Given the description of an element on the screen output the (x, y) to click on. 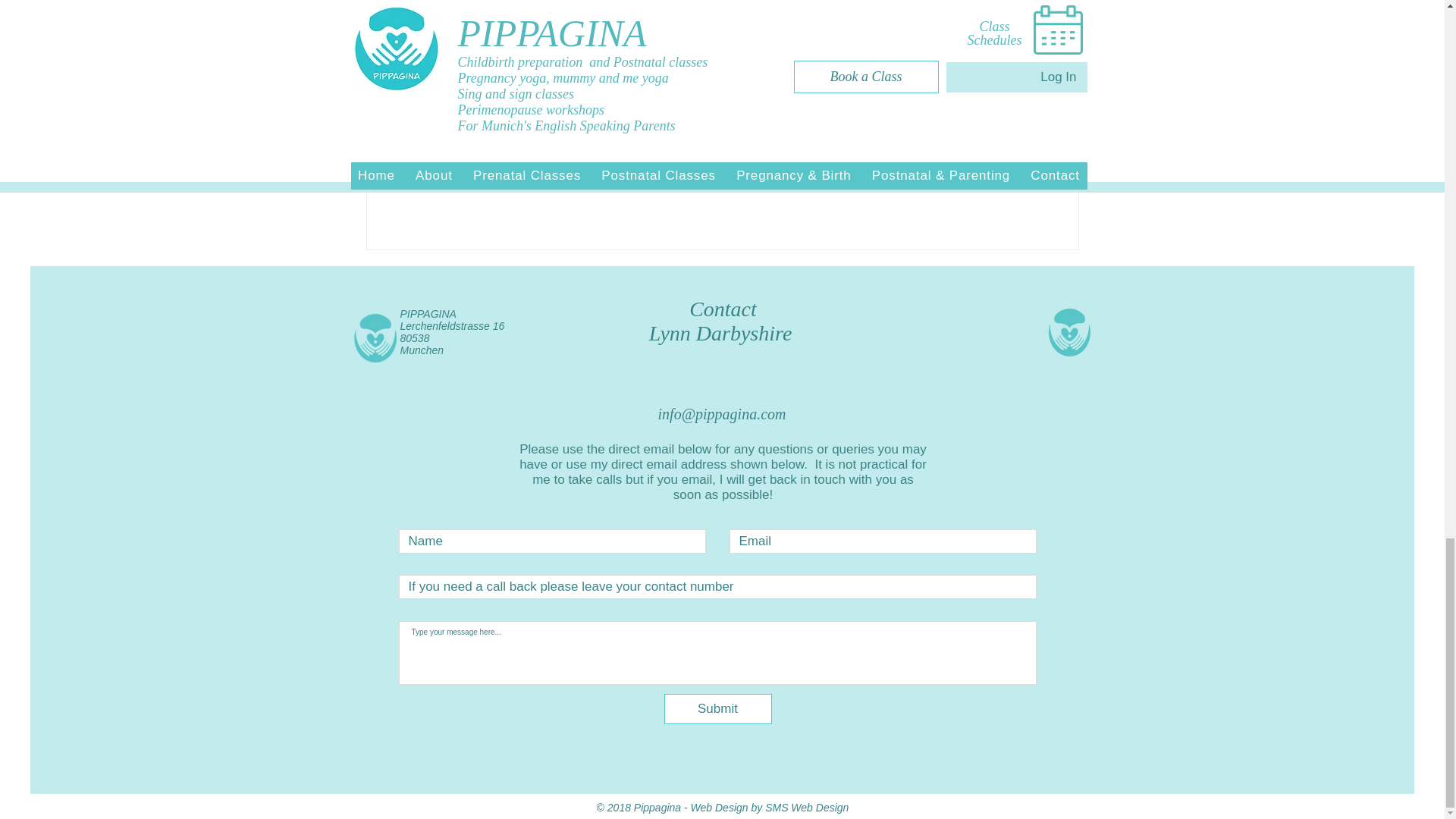
Web Design by SMS Web Design (769, 807)
Submit (717, 708)
www. munichtherapy.com (869, 68)
